Given the description of an element on the screen output the (x, y) to click on. 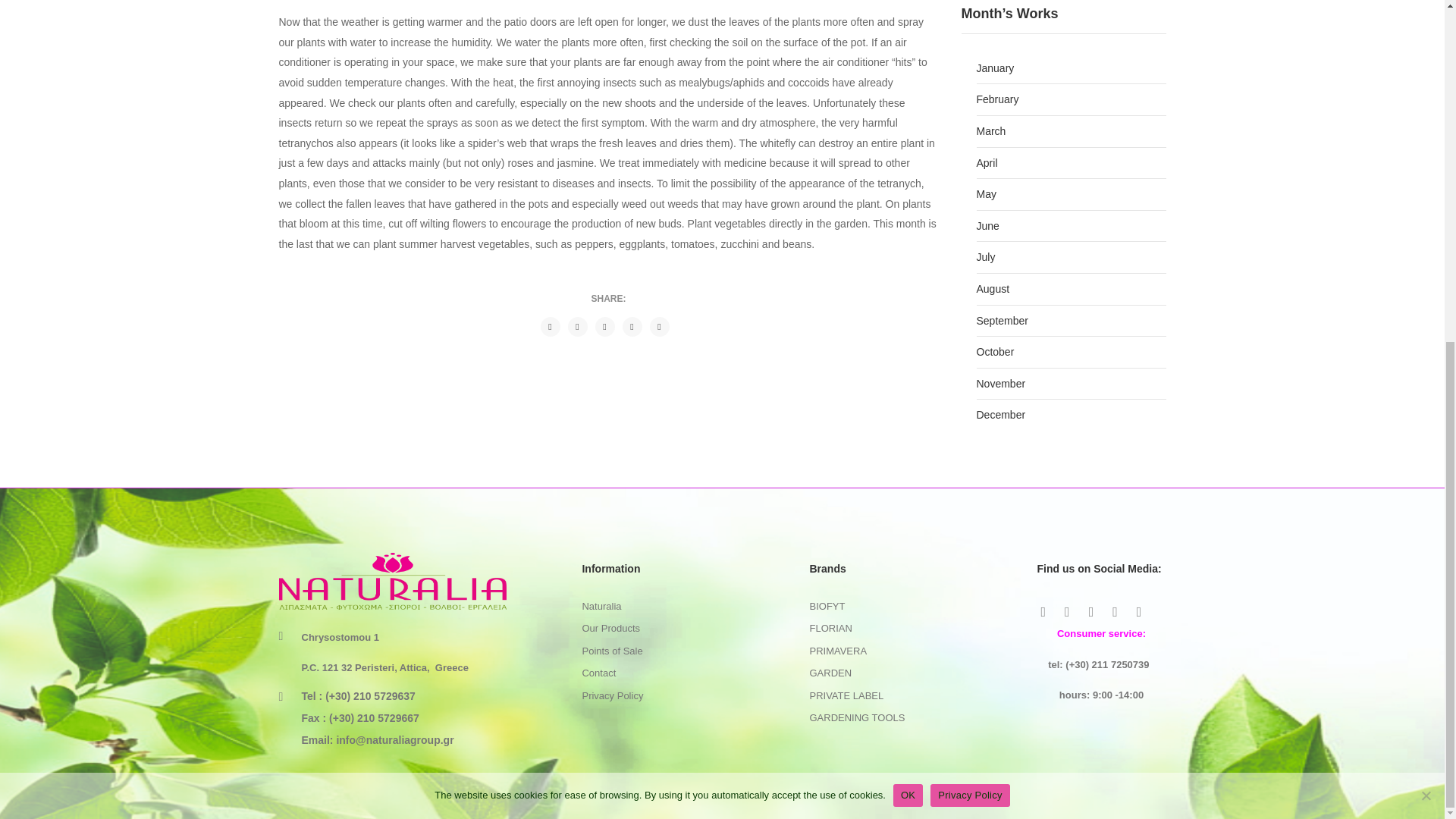
Twitter (576, 326)
LinkedIn (658, 326)
Pinterest (604, 326)
Facebook (549, 326)
